Given the description of an element on the screen output the (x, y) to click on. 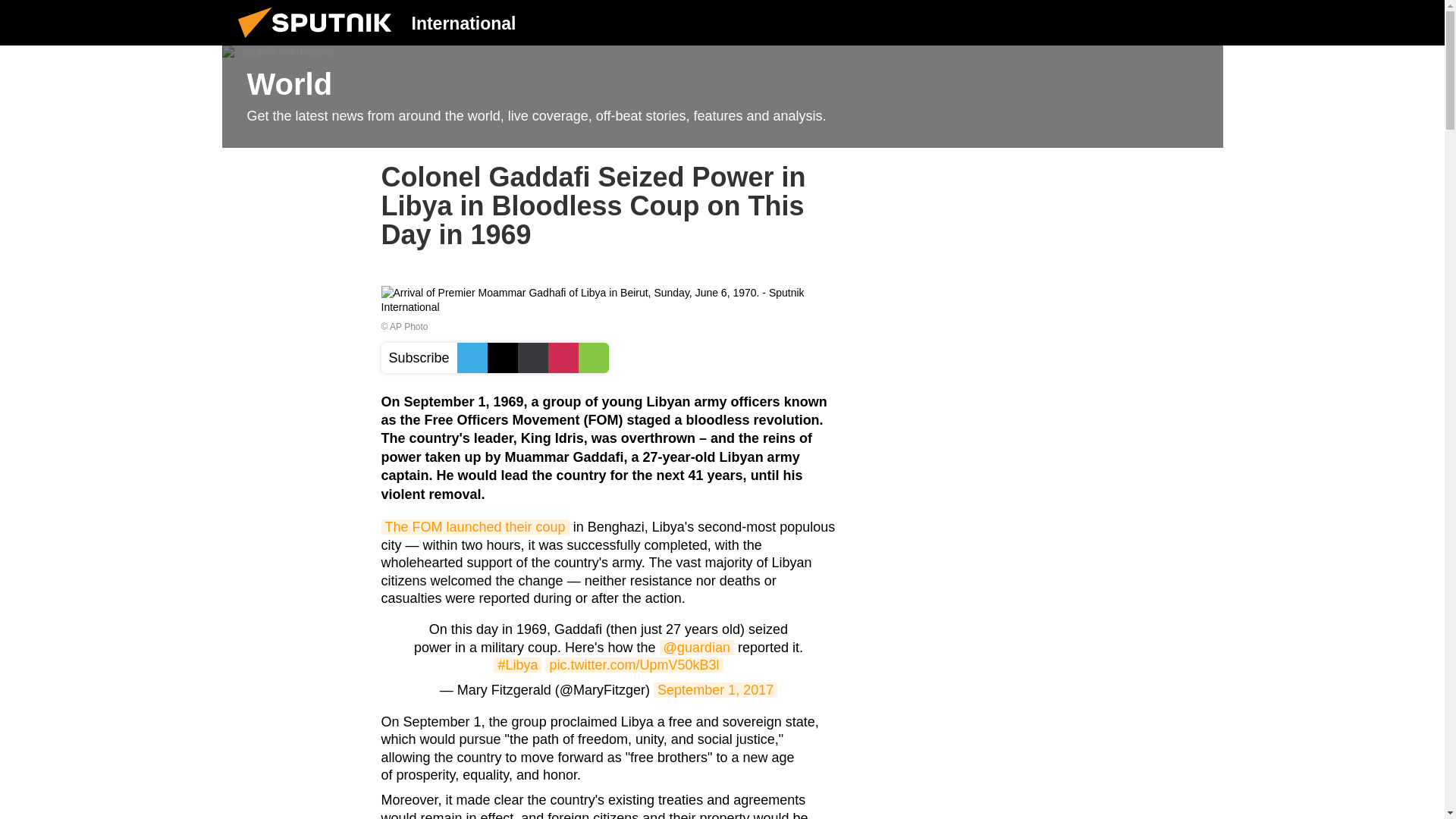
Sputnik International (319, 41)
Authorization (1123, 22)
Chats (1199, 22)
World (722, 96)
